Given the description of an element on the screen output the (x, y) to click on. 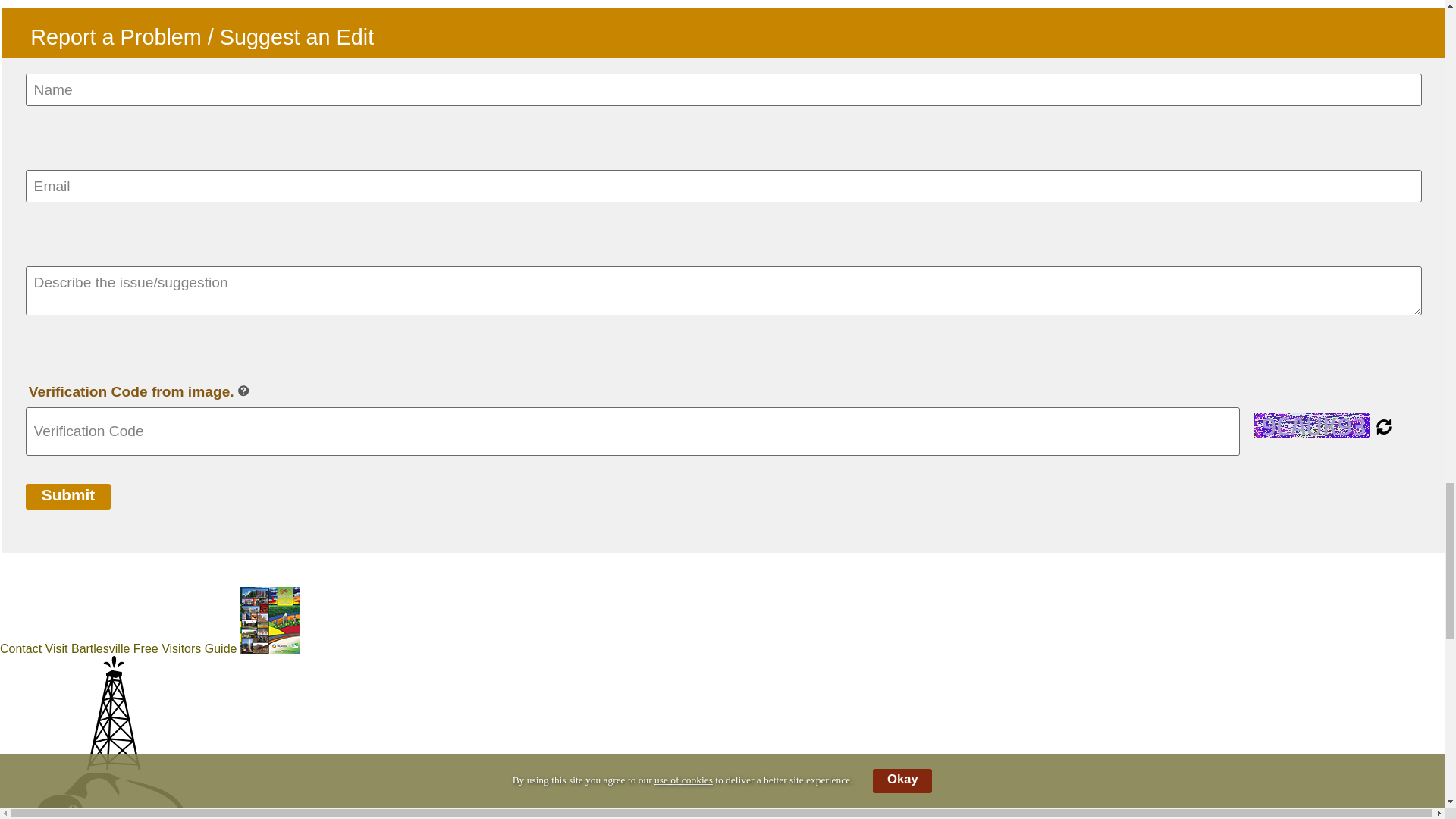
Submit (68, 496)
